Given the description of an element on the screen output the (x, y) to click on. 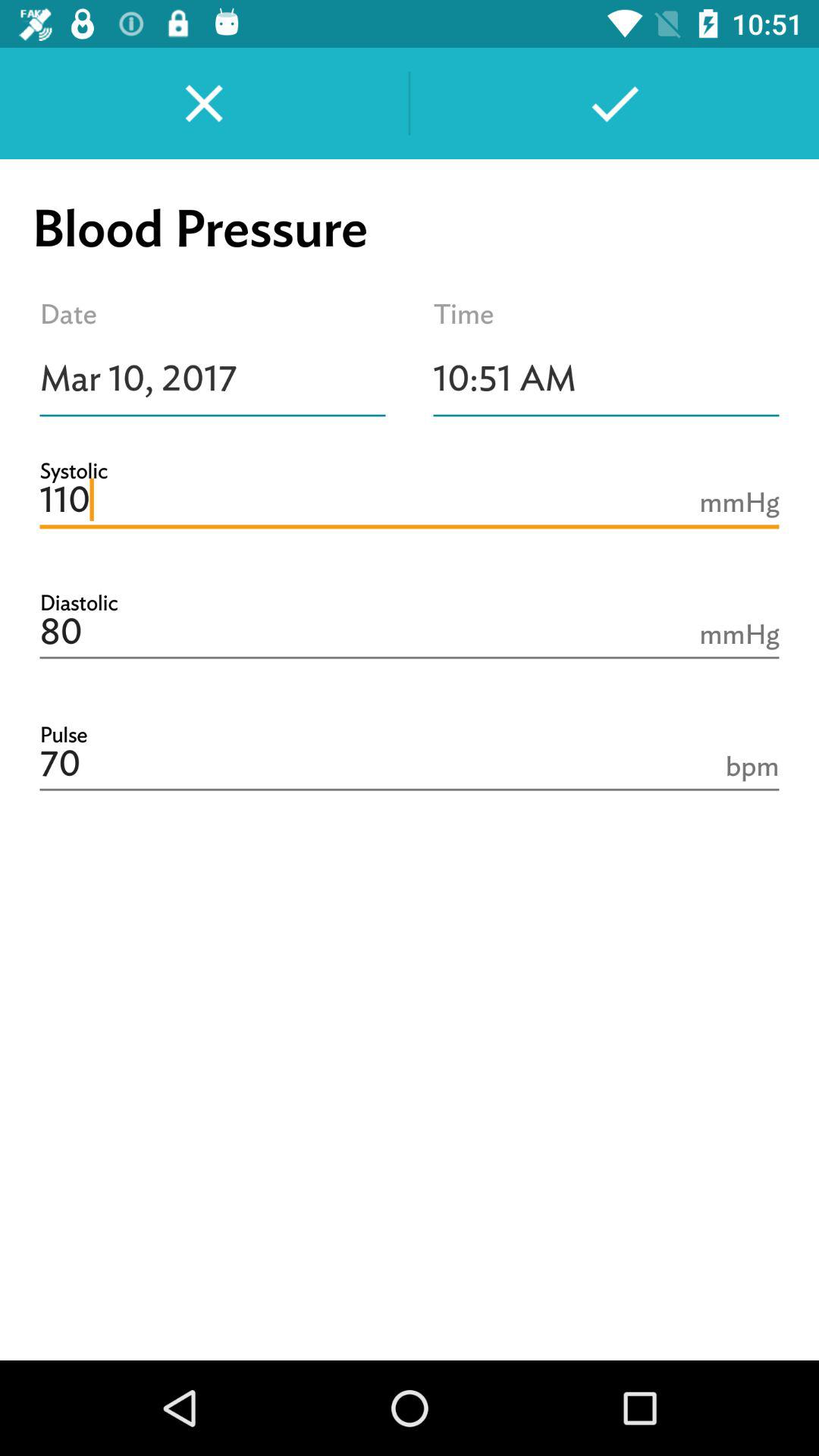
click 80 item (409, 632)
